Given the description of an element on the screen output the (x, y) to click on. 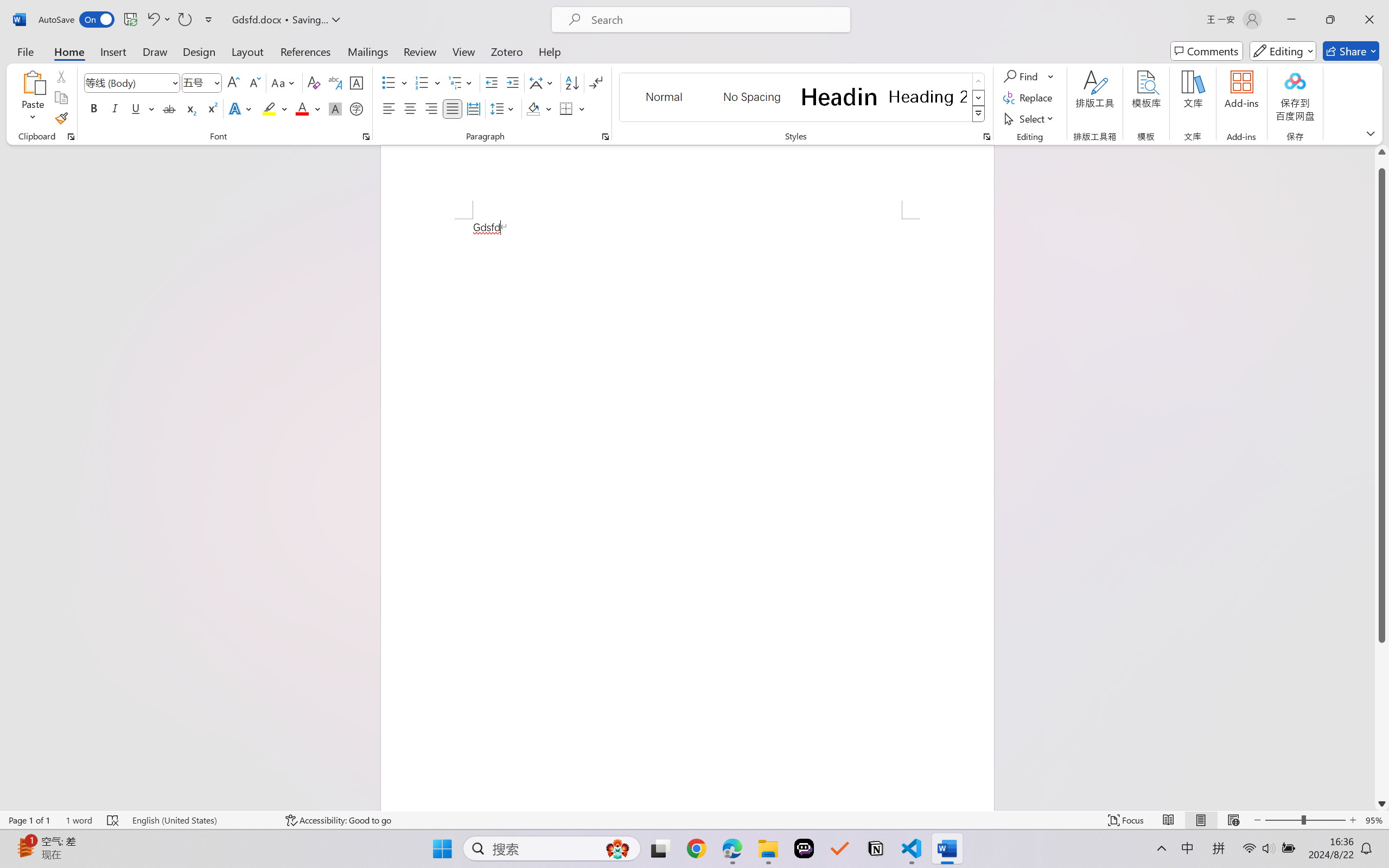
Change Case (284, 82)
Decrease Indent (491, 82)
Clear Formatting (313, 82)
Undo Style (158, 19)
Center (409, 108)
Bold (94, 108)
